Given the description of an element on the screen output the (x, y) to click on. 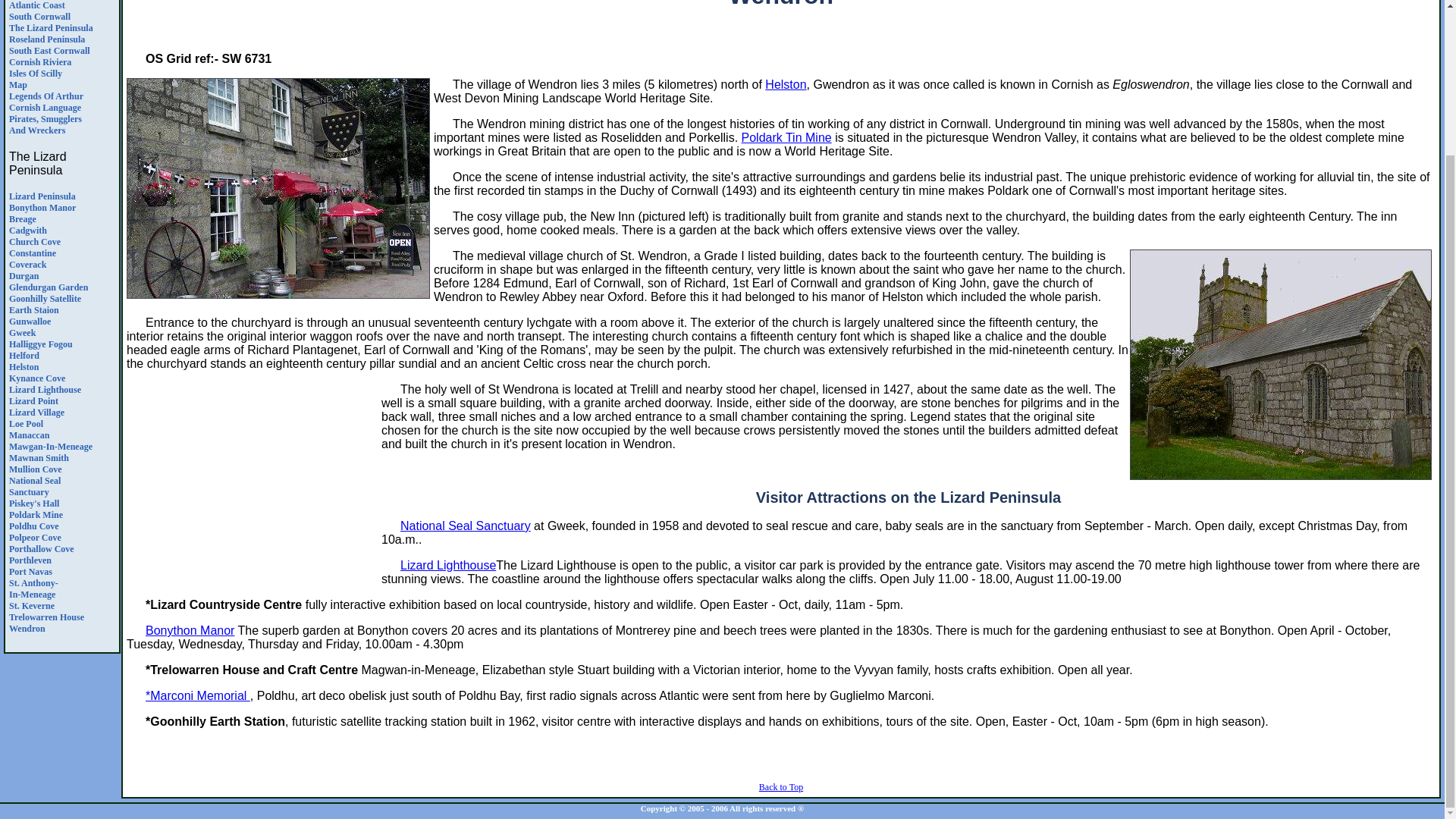
Atlantic Coast (36, 5)
Gunwalloe (29, 321)
Lizard Village (36, 412)
Helston (23, 366)
Halliggye Fogou (40, 344)
Mawgan-In-Meneage (50, 446)
Church Cove (34, 241)
Cornish Language (44, 304)
Roseland Peninsula (44, 107)
